Given the description of an element on the screen output the (x, y) to click on. 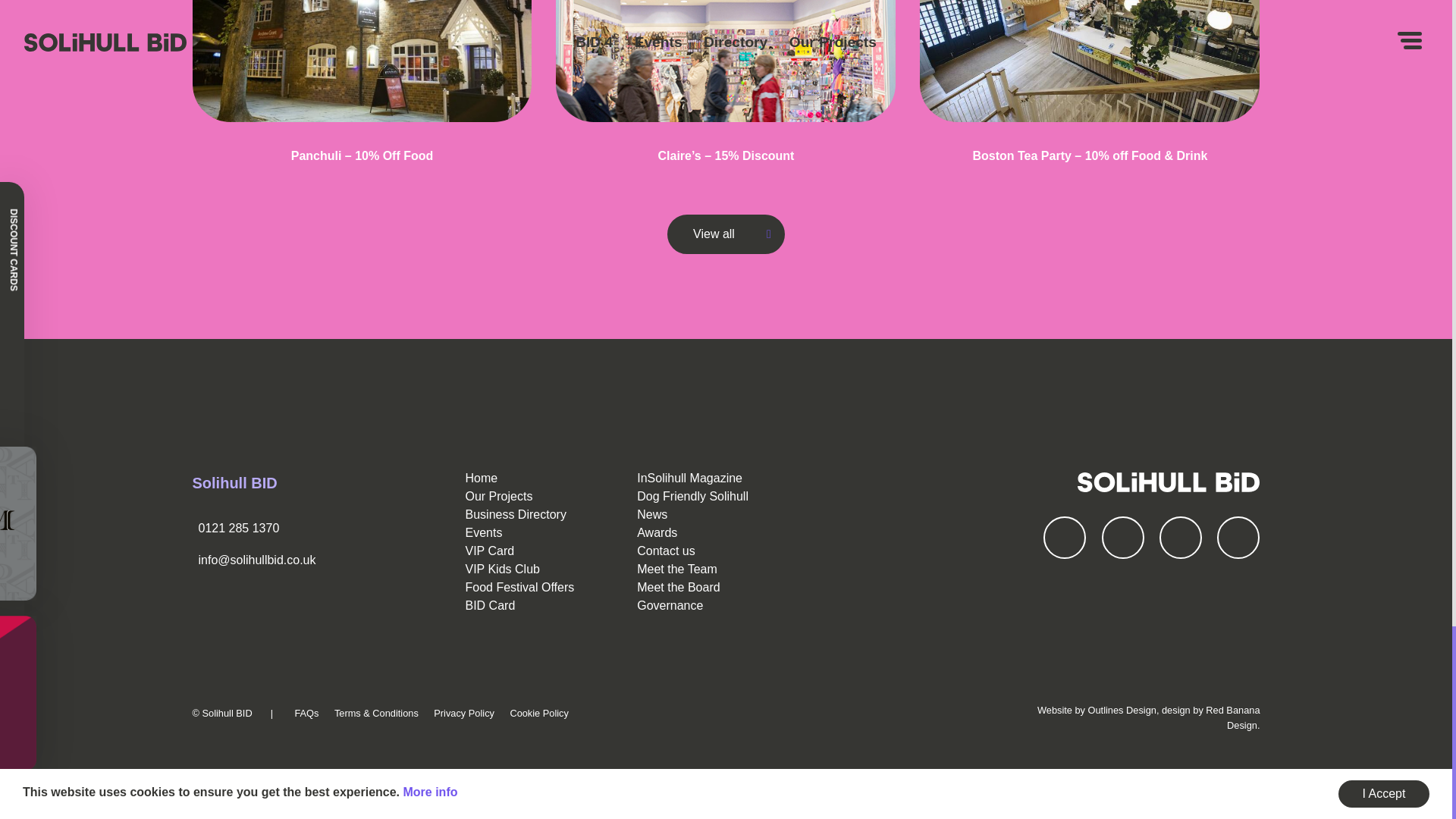
View all (725, 233)
0121 285 1370 (238, 527)
